Given the description of an element on the screen output the (x, y) to click on. 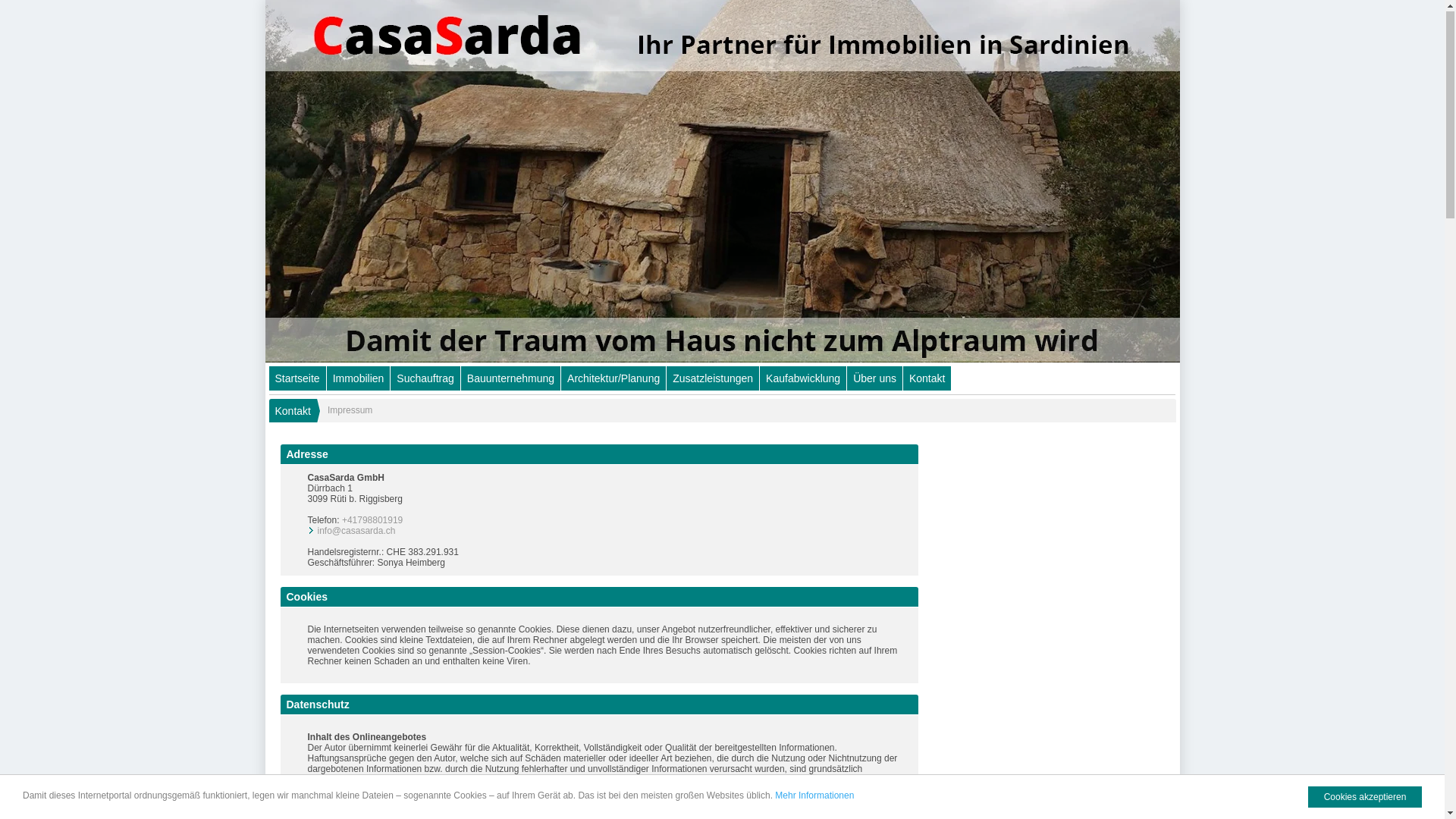
Impressum Element type: text (341, 412)
Kontakt Element type: text (926, 379)
Kaufabwicklung Element type: text (802, 379)
Immobilien Element type: text (358, 379)
Kontakt Element type: text (289, 412)
Suchauftrag Element type: text (425, 379)
+41798801919 Element type: text (372, 521)
Startseite Element type: text (296, 379)
CasaSarda GmbH Element type: hover (722, 182)
Cookies akzeptieren Element type: text (1364, 798)
Bauunternehmung Element type: text (510, 379)
info@casasarda.ch Element type: text (355, 532)
Mehr Informationen Element type: text (814, 796)
Architektur/Planung Element type: text (613, 379)
Zusatzleistungen Element type: text (712, 379)
